Given the description of an element on the screen output the (x, y) to click on. 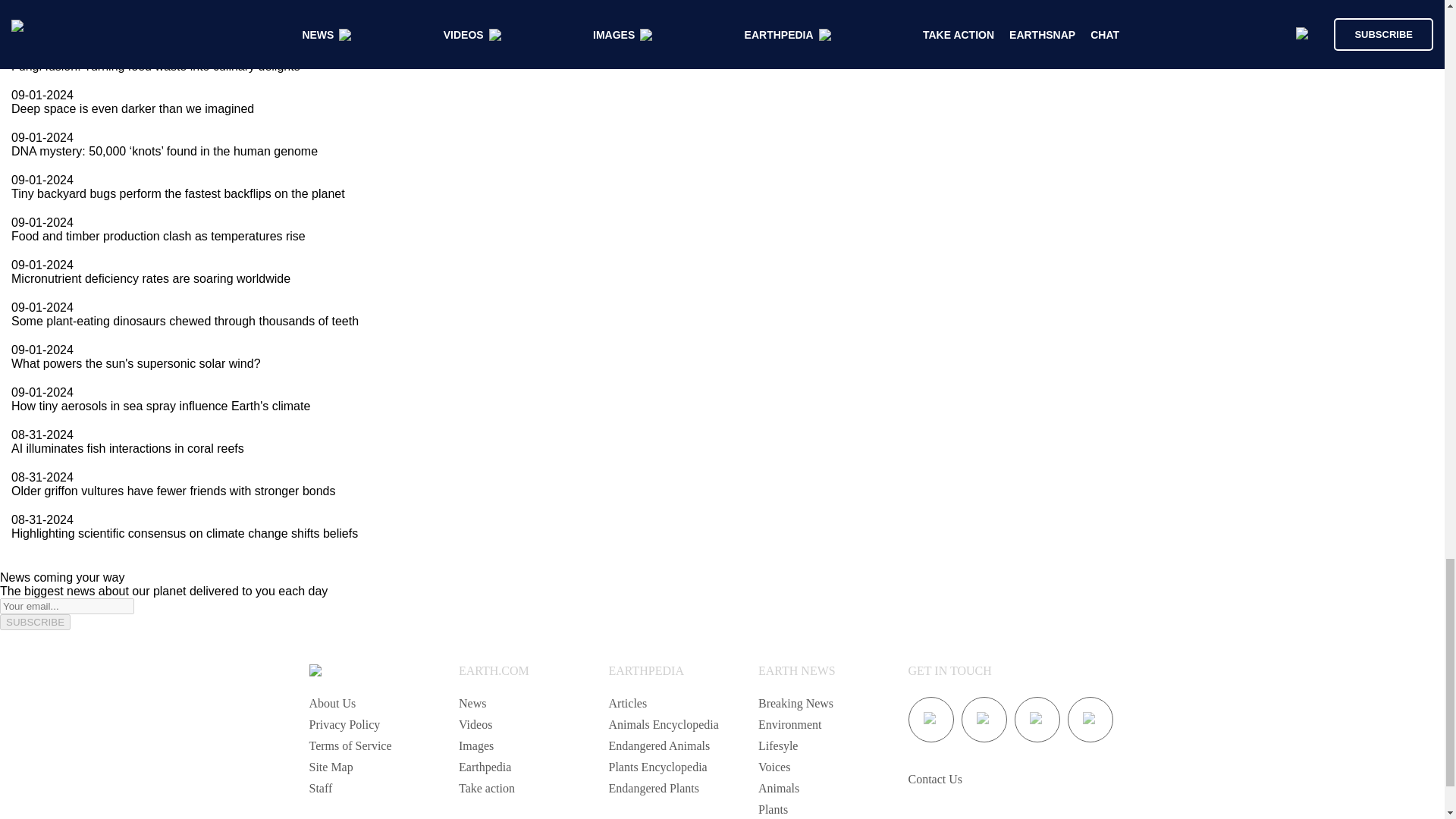
How tiny aerosols in sea spray influence Earth's climate (160, 405)
Deep space is even darker than we imagined (132, 108)
What powers the sun's supersonic solar wind? (135, 363)
AI illuminates fish interactions in coral reefs (127, 448)
Food and timber production clash as temperatures rise (158, 236)
SUBSCRIBE (34, 621)
